Given the description of an element on the screen output the (x, y) to click on. 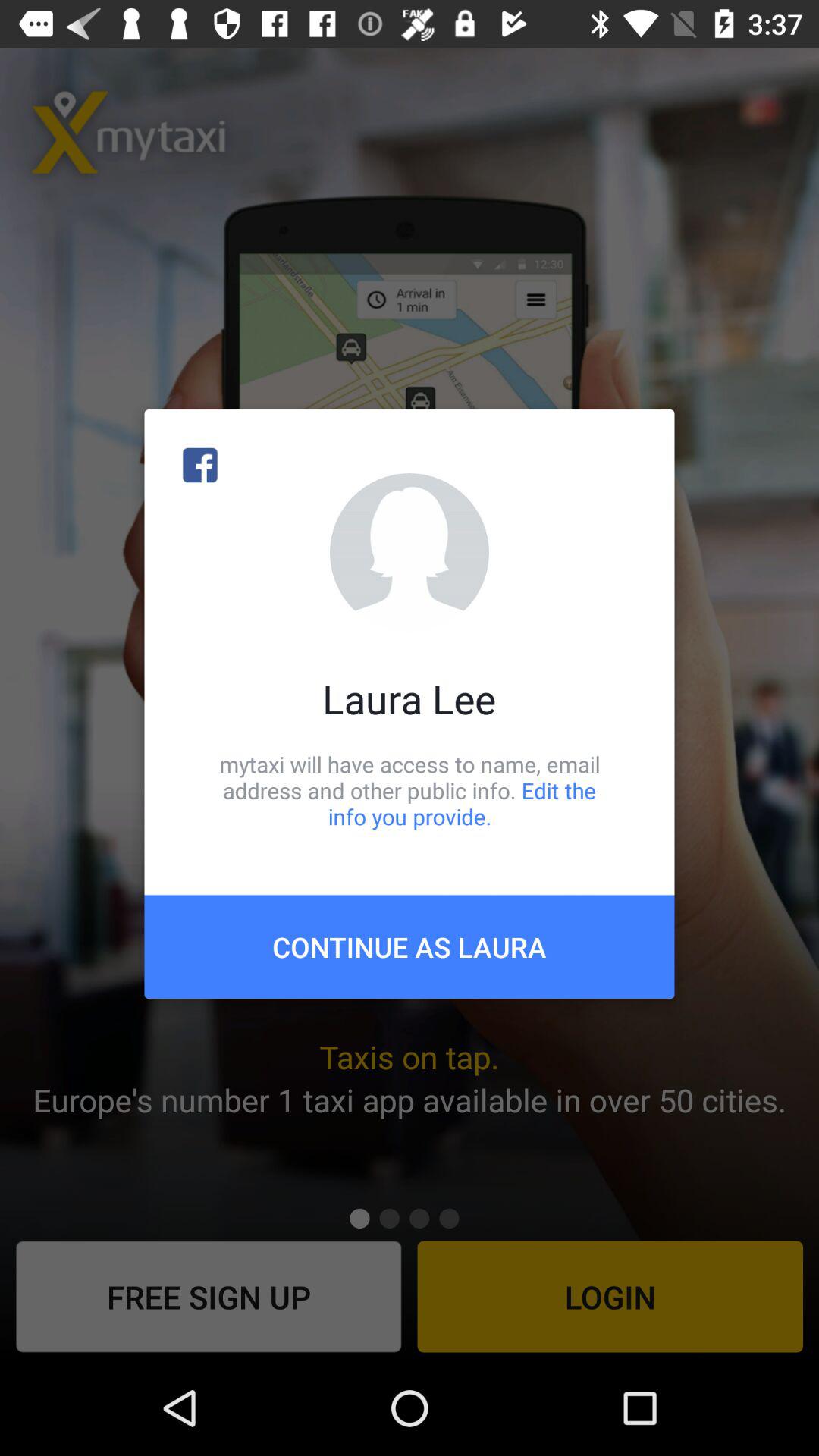
press the icon below the laura lee (409, 790)
